Given the description of an element on the screen output the (x, y) to click on. 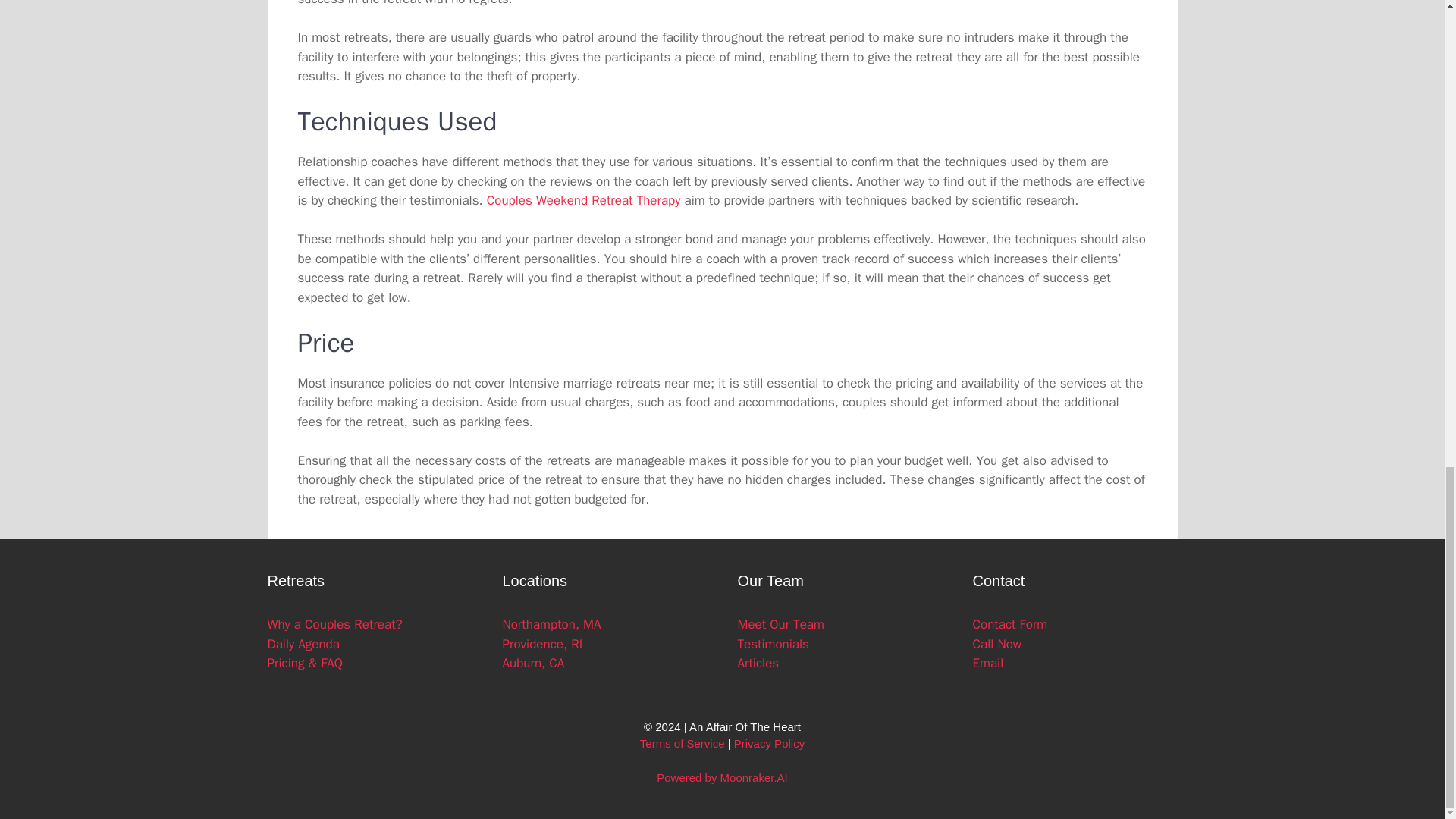
Testimonials (772, 643)
Auburn, CA (533, 662)
Meet Our Team (780, 624)
Terms of Service (682, 743)
Northampton, MA (550, 624)
Privacy Policy (769, 743)
Articles (757, 662)
Daily Agenda (302, 643)
Call Now (997, 643)
Powered by Moonraker.AI (721, 777)
